Given the description of an element on the screen output the (x, y) to click on. 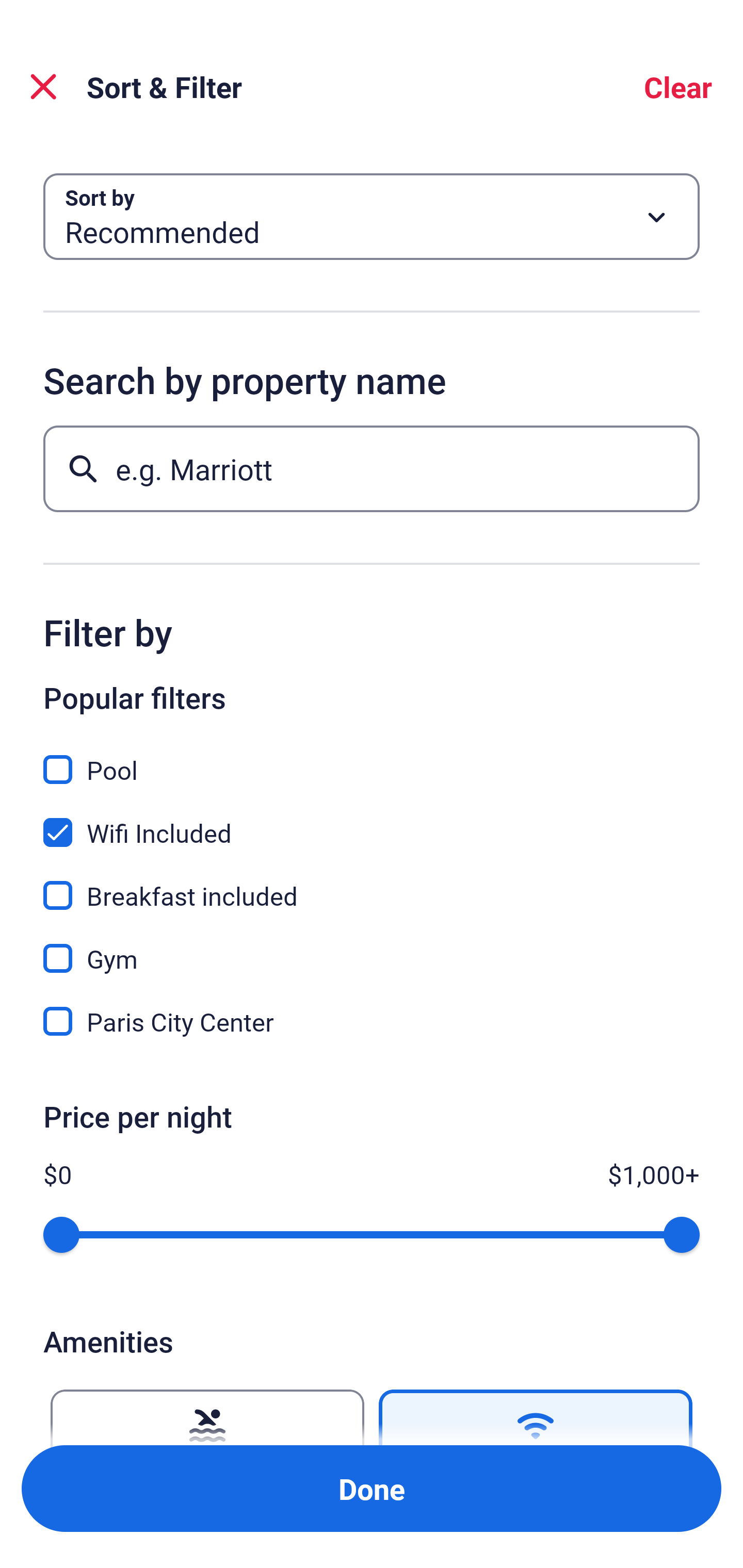
Close Sort and Filter (43, 86)
Clear (677, 86)
Sort by Button Recommended (371, 217)
e.g. Marriott Button (371, 468)
Pool, Pool (371, 757)
Wifi Included, Wifi Included (371, 821)
Breakfast included, Breakfast included (371, 883)
Gym, Gym (371, 946)
Paris City Center, Paris City Center (371, 1021)
Apply and close Sort and Filter Done (371, 1488)
